Given the description of an element on the screen output the (x, y) to click on. 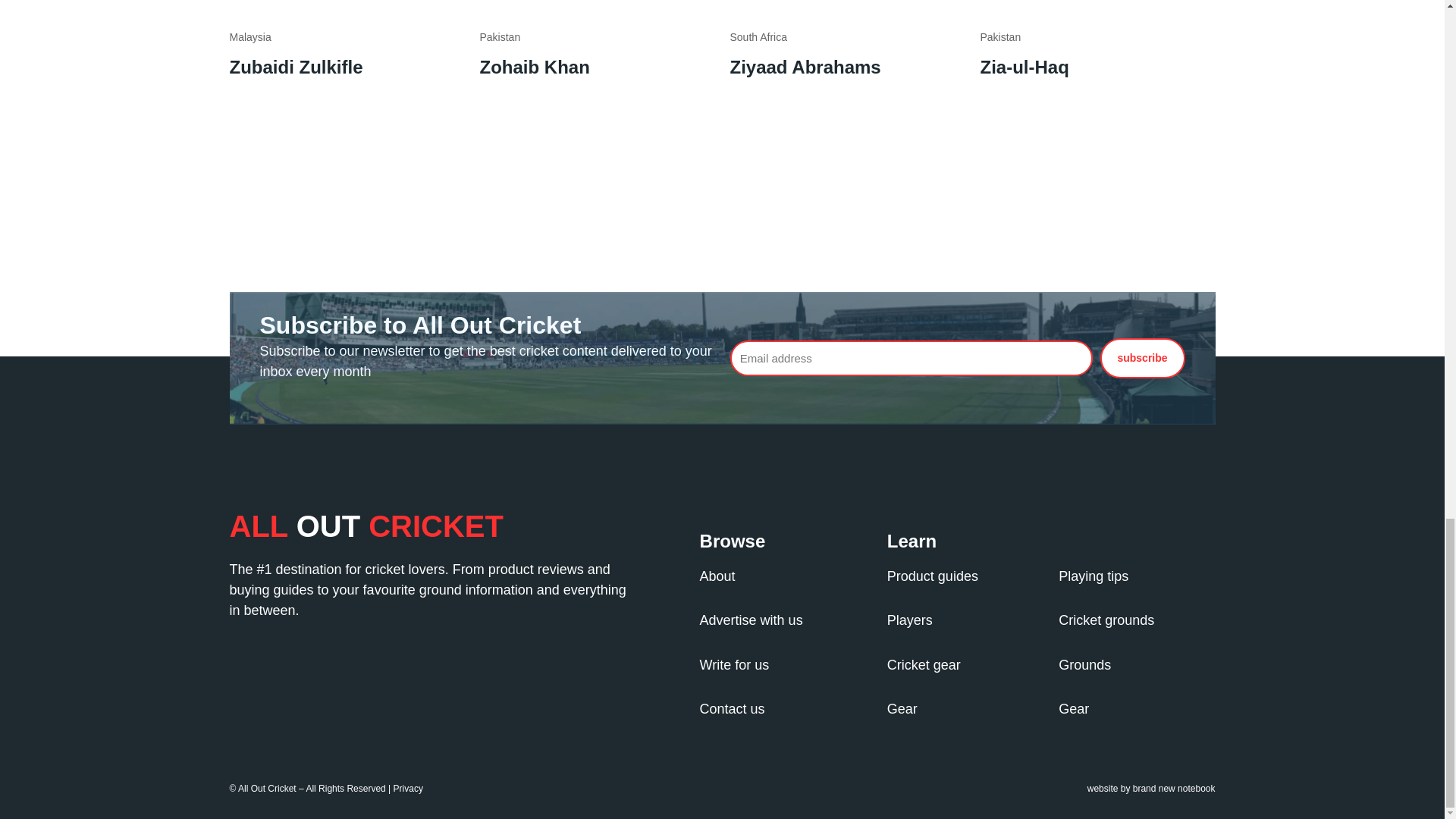
Pakistan (499, 37)
South Africa (758, 37)
Zia-ul-Haq (1023, 66)
Zubaidi Zulkifle (295, 66)
Ziyaad Abrahams (804, 66)
Pakistan (999, 37)
Zohaib Khan (534, 66)
subscribe (1142, 358)
Malaysia (249, 37)
